Given the description of an element on the screen output the (x, y) to click on. 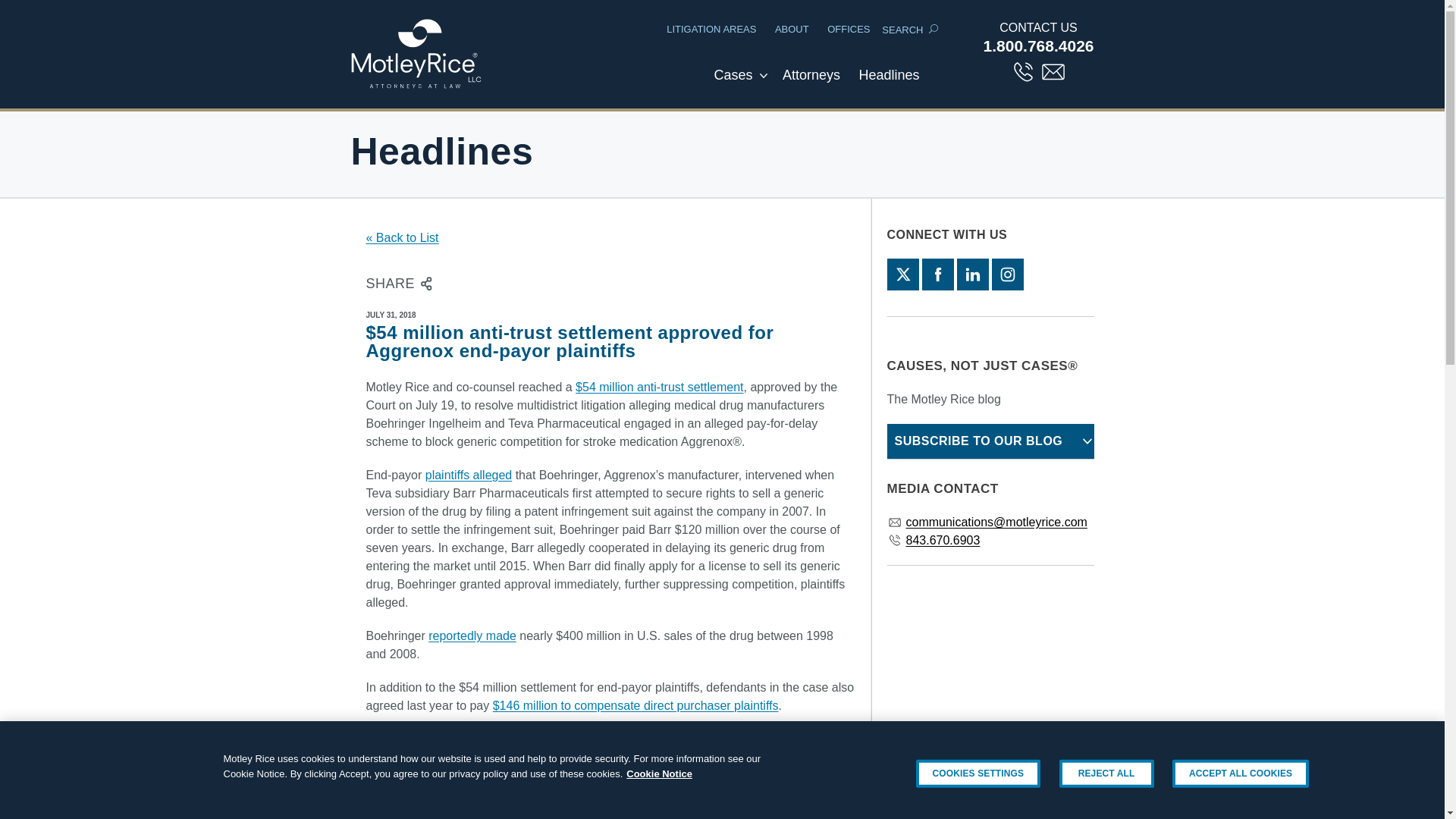
Combined News (888, 84)
OFFICES (848, 29)
Email (1053, 71)
SEARCH (902, 30)
Cases (733, 84)
Phone (1023, 71)
twitter (902, 274)
ABOUT (791, 29)
Attorneys (810, 84)
